Given the description of an element on the screen output the (x, y) to click on. 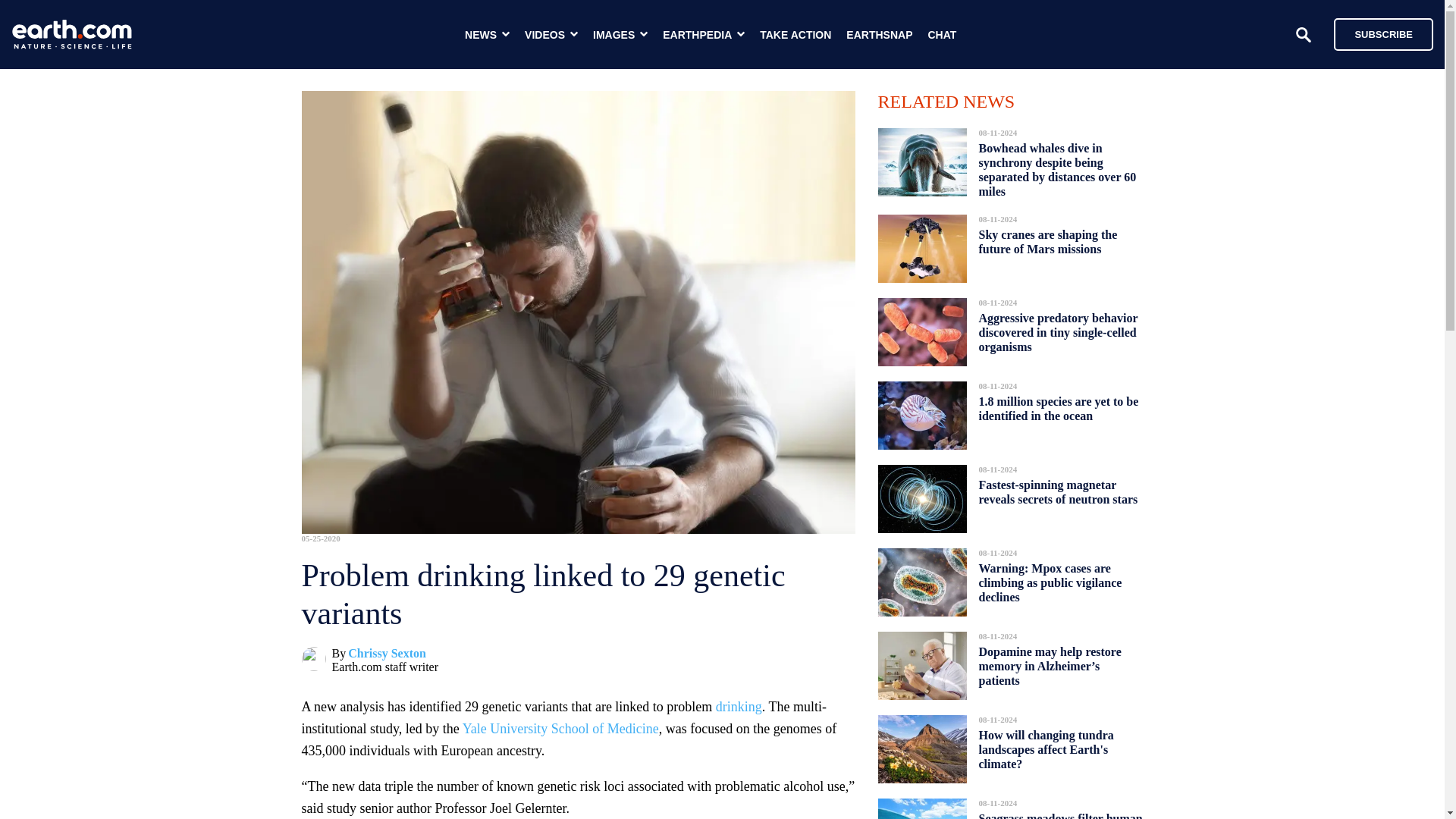
SUBSCRIBE (1375, 33)
Yale University School of Medicine (561, 728)
drinking (738, 706)
1.8 million species are yet to be identified in the ocean (1058, 408)
TAKE ACTION (795, 34)
How will changing tundra landscapes affect Earth's climate? (1045, 749)
